Given the description of an element on the screen output the (x, y) to click on. 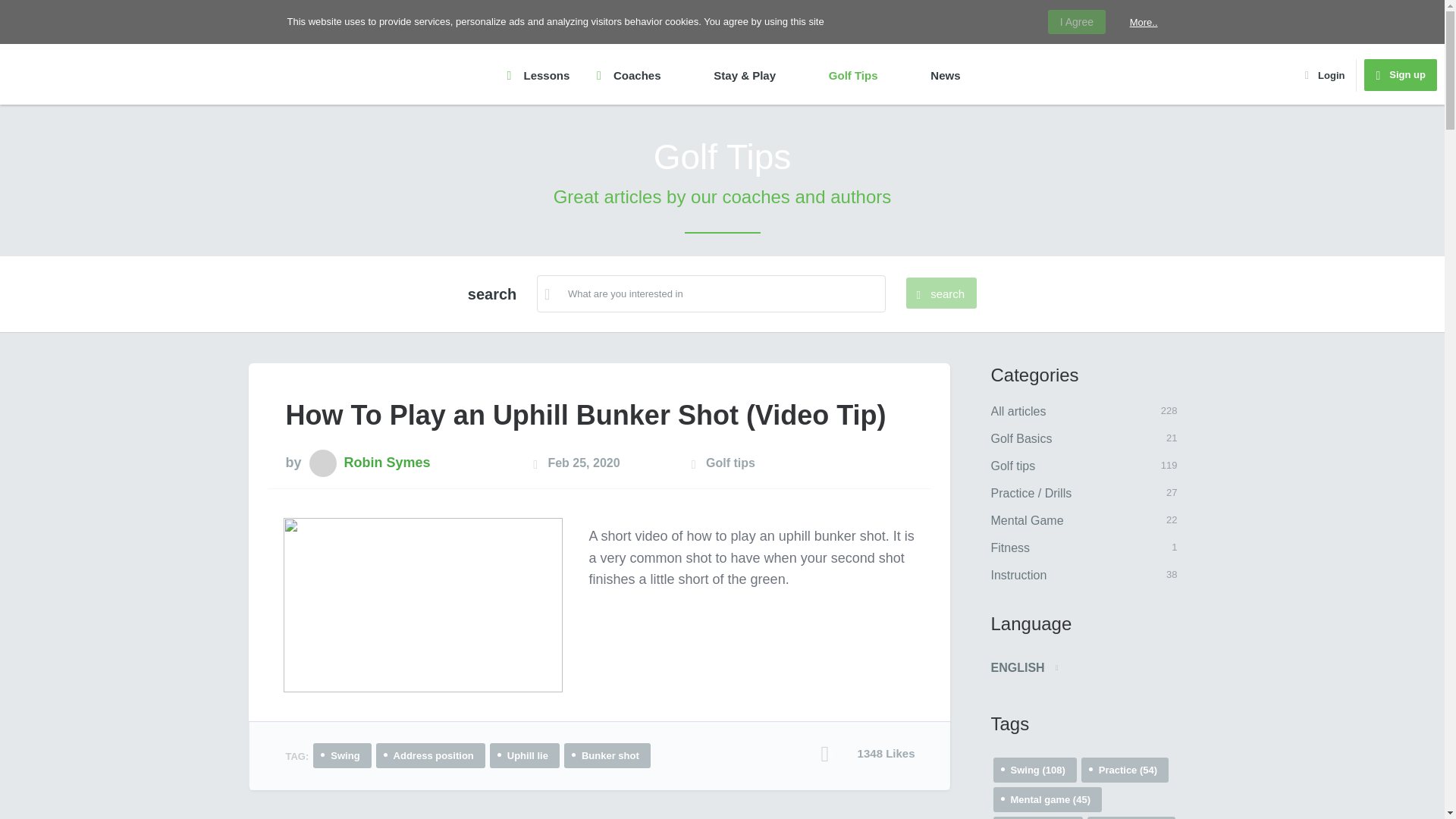
Gryyny.com (1092, 439)
search (112, 74)
More.. (1092, 466)
Sign up (1092, 575)
Login (940, 292)
